Given the description of an element on the screen output the (x, y) to click on. 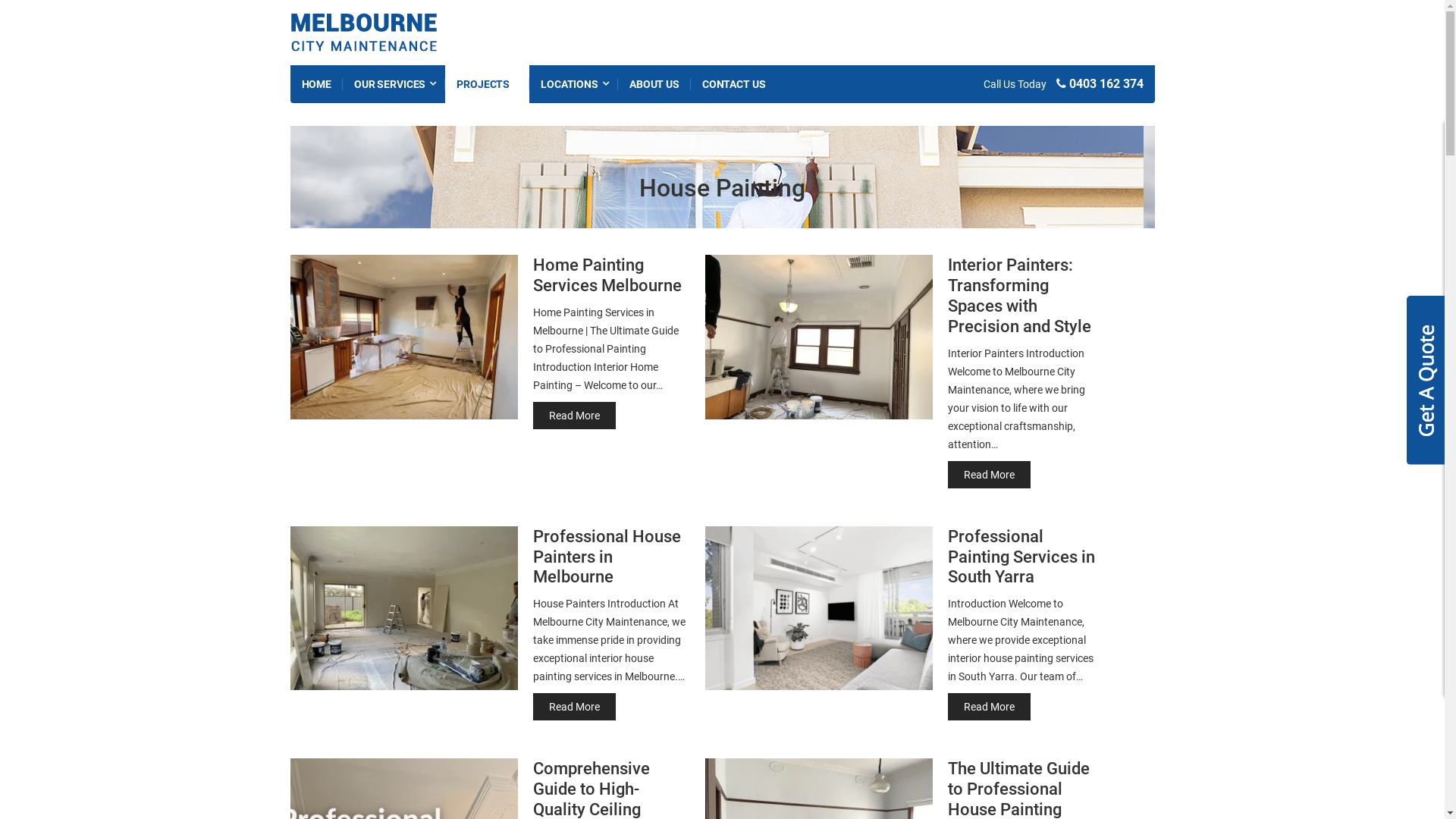
PROJECTS Element type: text (487, 84)
Read More Element type: text (573, 415)
OUR SERVICES Element type: text (393, 84)
Professional Painting Services in South Yarra Element type: text (1021, 556)
Home Painting Services Melbourne Element type: text (606, 274)
Read More Element type: text (988, 474)
CONTACT US Element type: text (733, 84)
0403 162 374 Element type: text (1098, 83)
Professional House Painters in Melbourne Element type: text (606, 556)
Read More Element type: text (988, 706)
ABOUT US Element type: text (654, 84)
Read More Element type: text (573, 706)
LOCATIONS Element type: text (573, 84)
HOME Element type: text (315, 84)
